Given the description of an element on the screen output the (x, y) to click on. 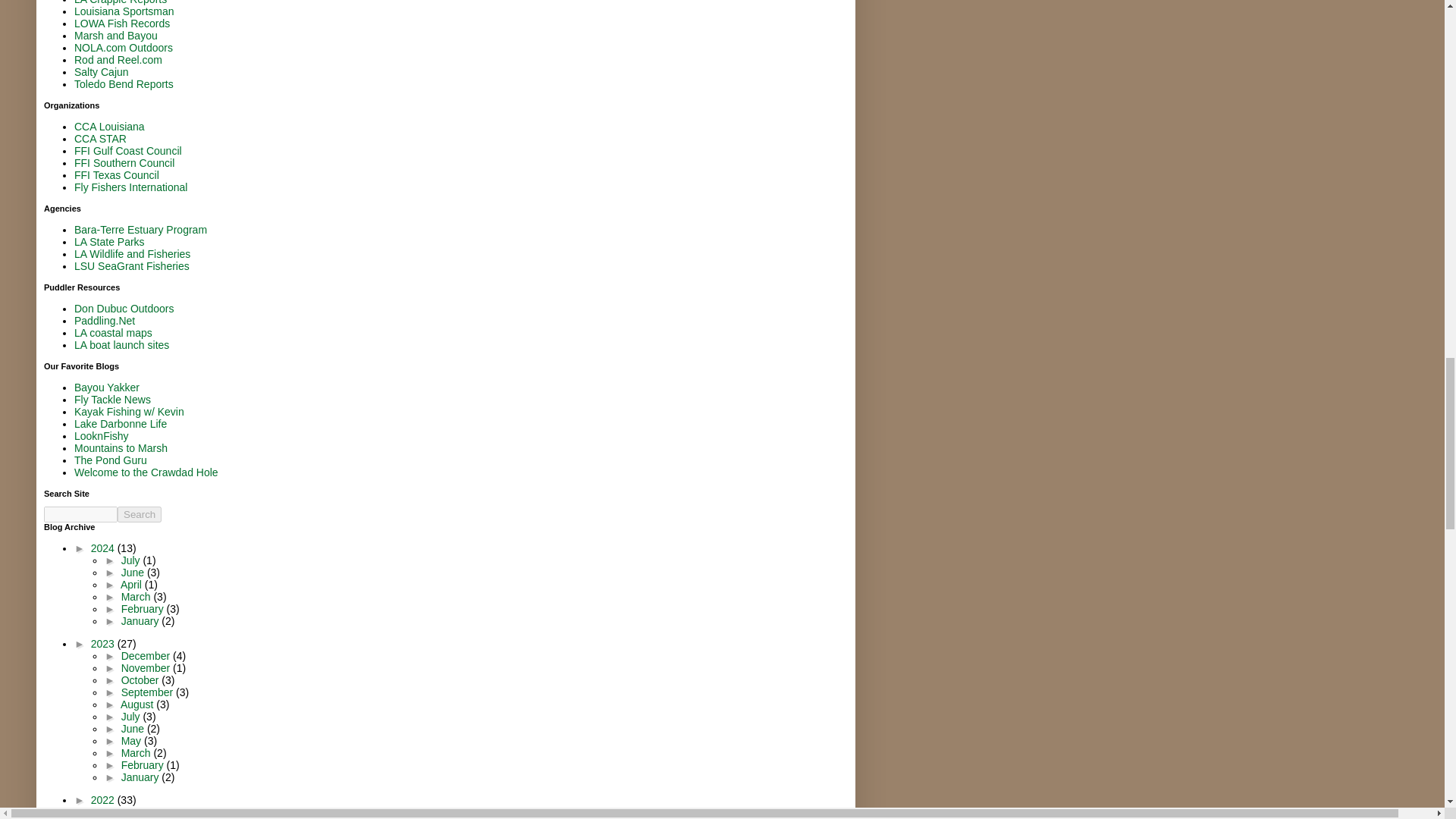
Search (139, 514)
Search (139, 514)
search (80, 514)
search (139, 514)
